Given the description of an element on the screen output the (x, y) to click on. 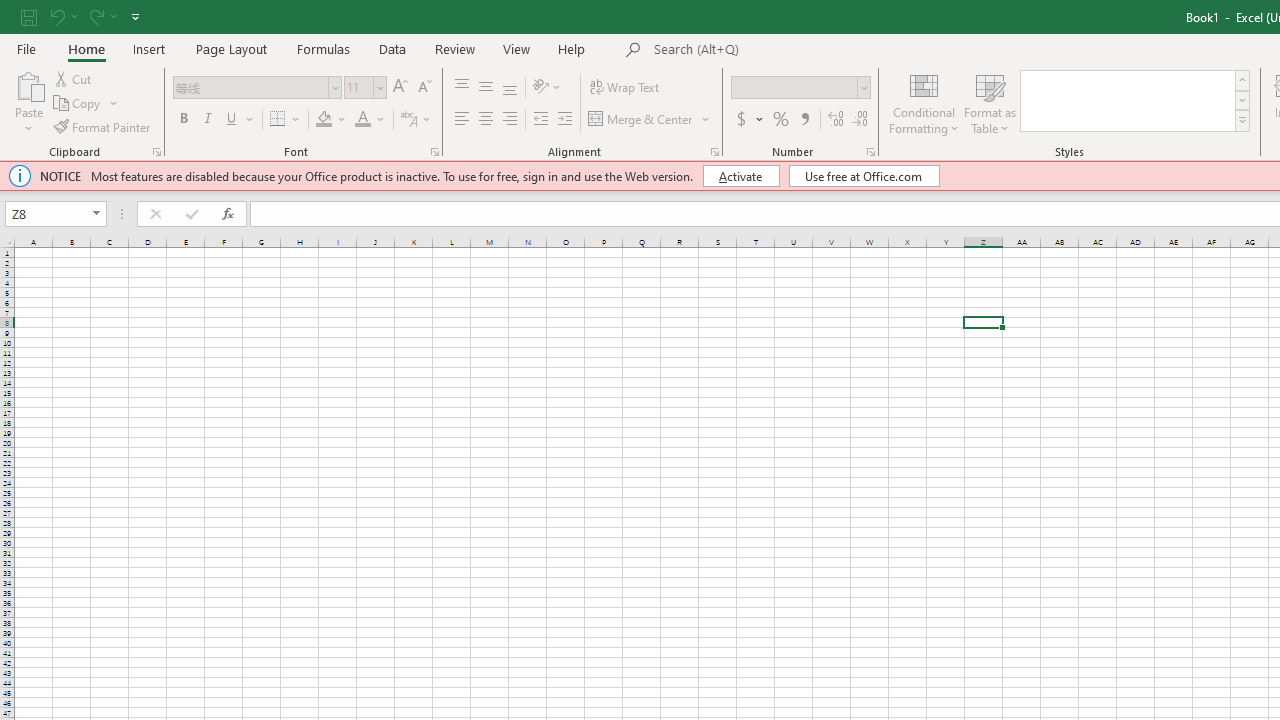
Wrap Text (624, 87)
Align Left (461, 119)
Show Phonetic Field (408, 119)
Increase Font Size (399, 87)
Font (256, 87)
Align Right (509, 119)
Increase Indent (565, 119)
Microsoft search (792, 49)
Percent Style (781, 119)
Font (250, 87)
Center (485, 119)
Orientation (547, 87)
